Given the description of an element on the screen output the (x, y) to click on. 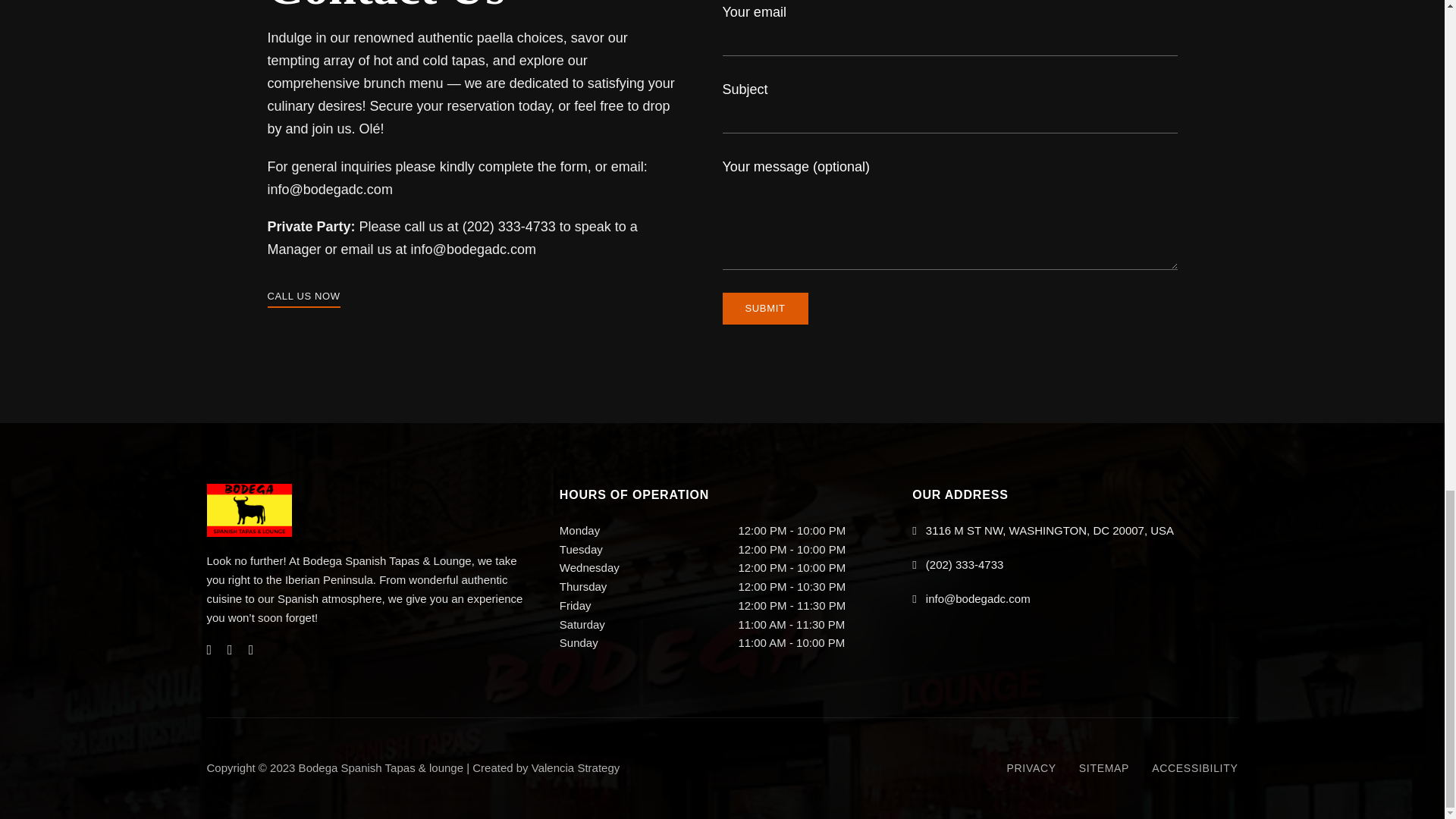
Facebook (208, 649)
CALL US NOW (302, 295)
TikTok (250, 649)
PRIVACY (1030, 768)
SITEMAP (1103, 768)
Instagram (229, 649)
Submit (765, 308)
Submit (765, 308)
3116 M ST NW, WASHINGTON, DC 20007, USA (1042, 530)
ACCESSIBILITY (1194, 768)
